Given the description of an element on the screen output the (x, y) to click on. 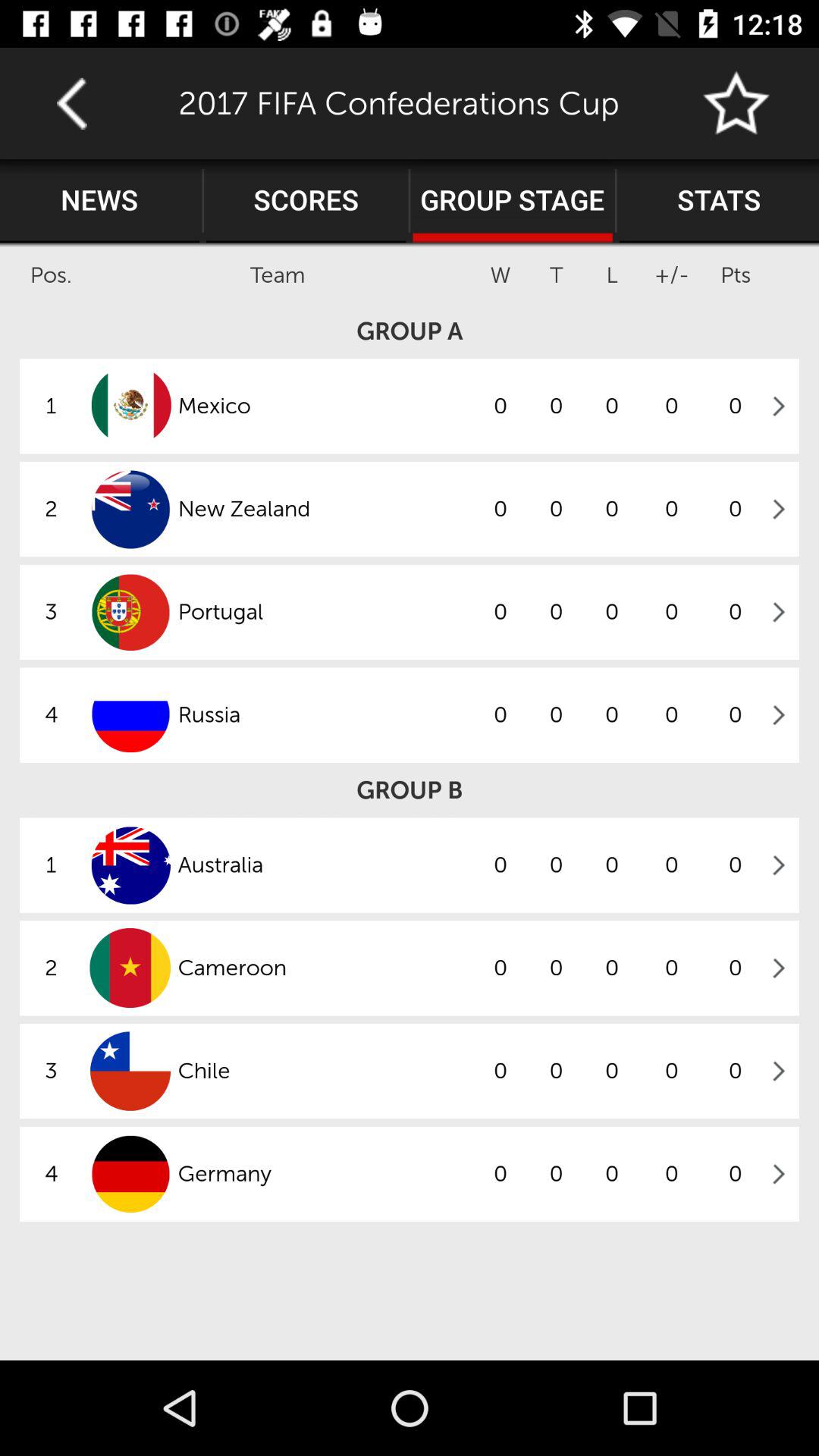
press icon above news (71, 103)
